Given the description of an element on the screen output the (x, y) to click on. 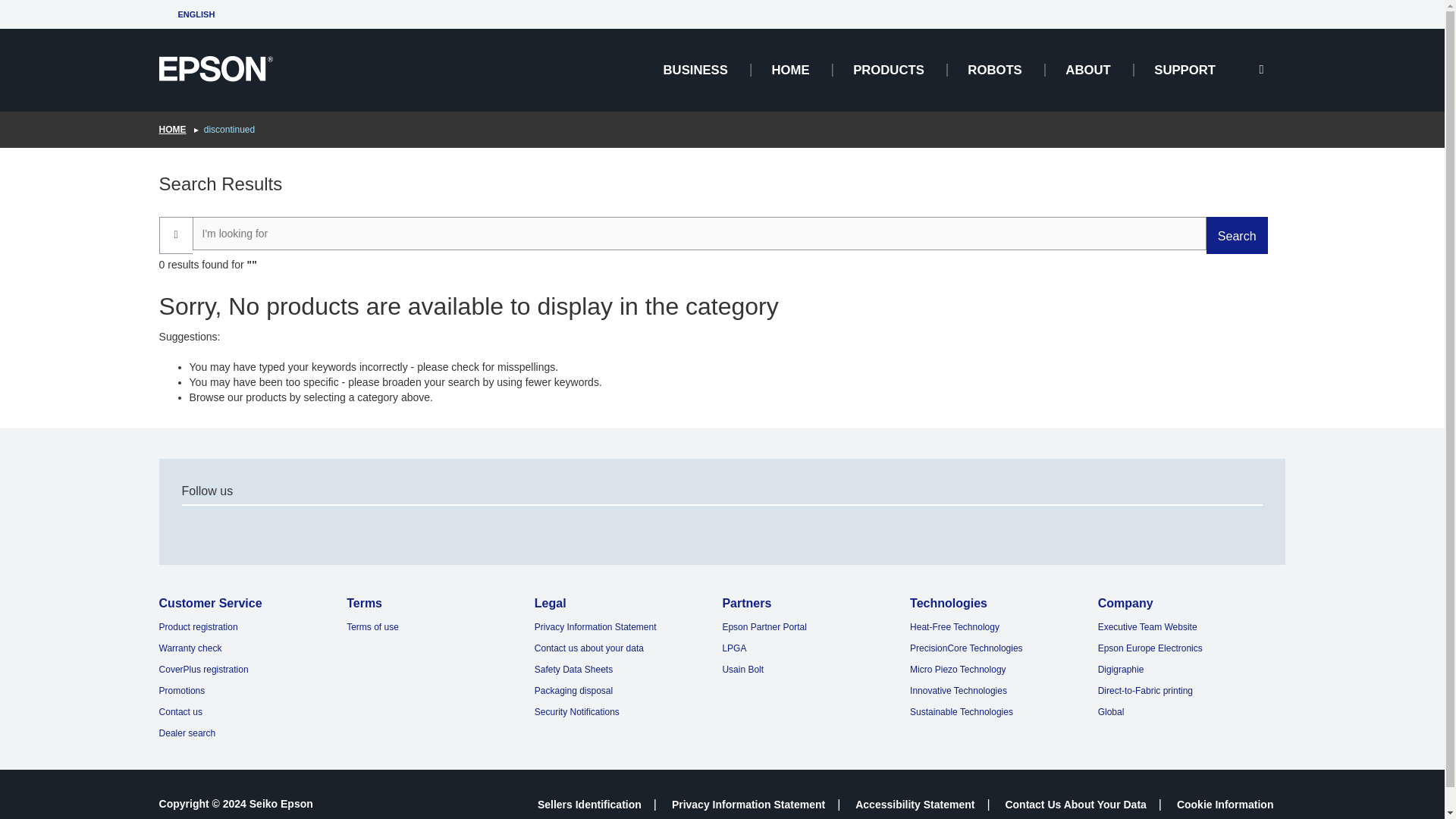
Epson (215, 68)
Business (695, 69)
BUSINESS (695, 69)
